Given the description of an element on the screen output the (x, y) to click on. 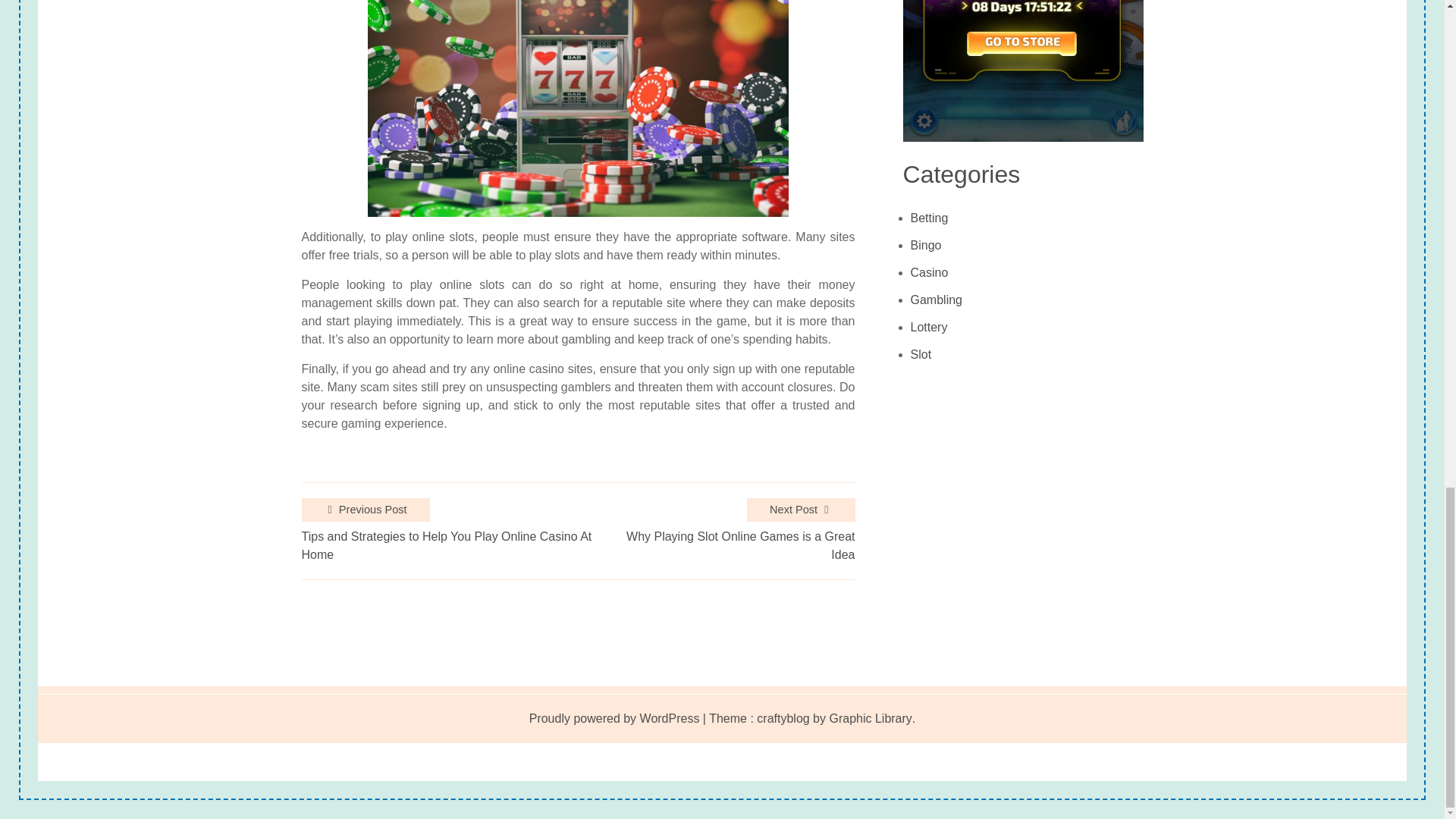
Next Post (800, 509)
Previous Post (365, 509)
Lottery (929, 327)
Tips and Strategies to Help You Play Online Casino At Home (456, 545)
Gambling (936, 299)
Proudly powered by WordPress (614, 719)
Graphic Library (869, 719)
Betting (930, 217)
Why Playing Slot Online Games is a Great Idea (733, 545)
Slot (921, 354)
Casino (930, 272)
Bingo (926, 245)
